Given the description of an element on the screen output the (x, y) to click on. 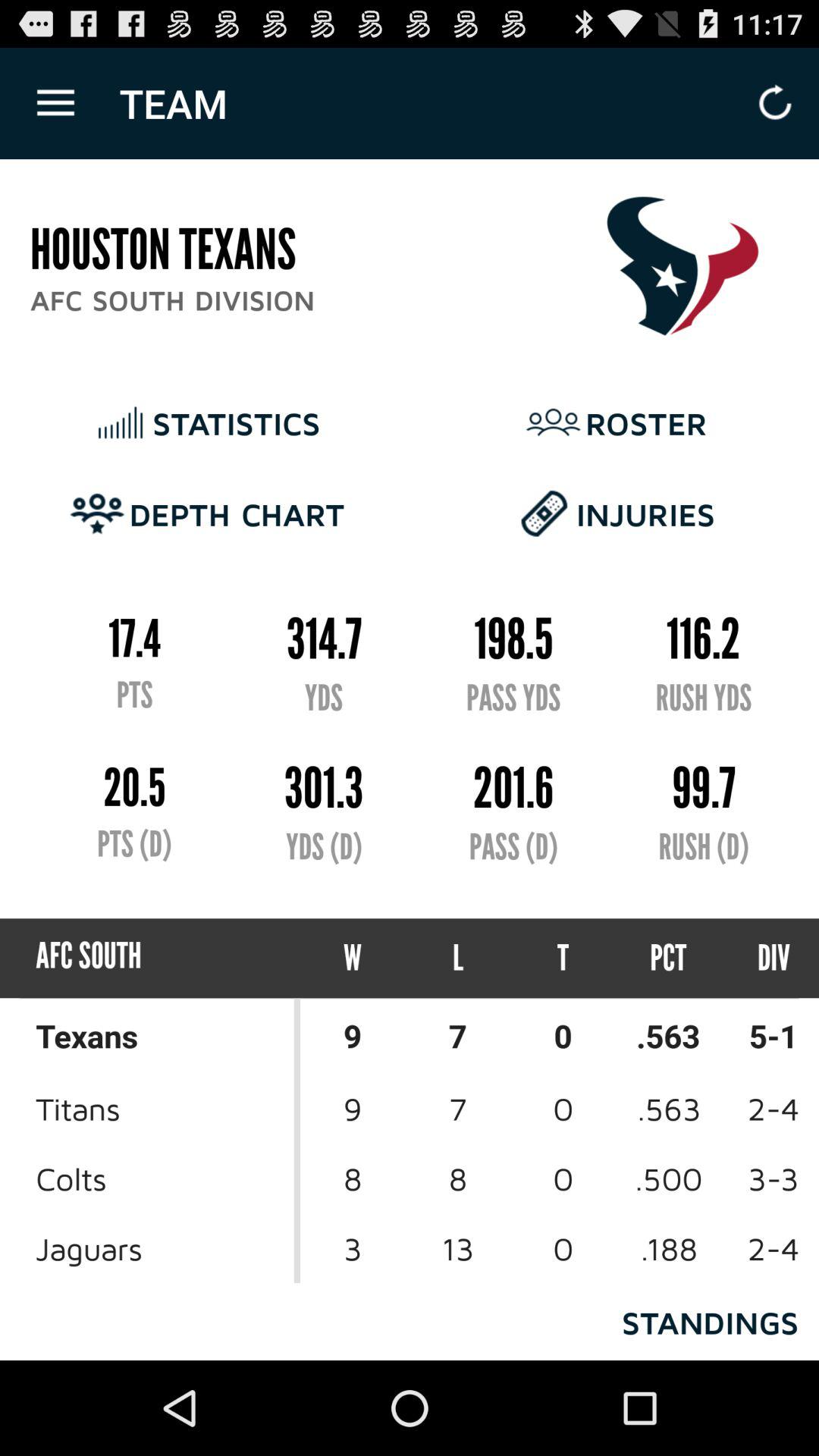
turn on the item below the pass (d) icon (457, 958)
